Given the description of an element on the screen output the (x, y) to click on. 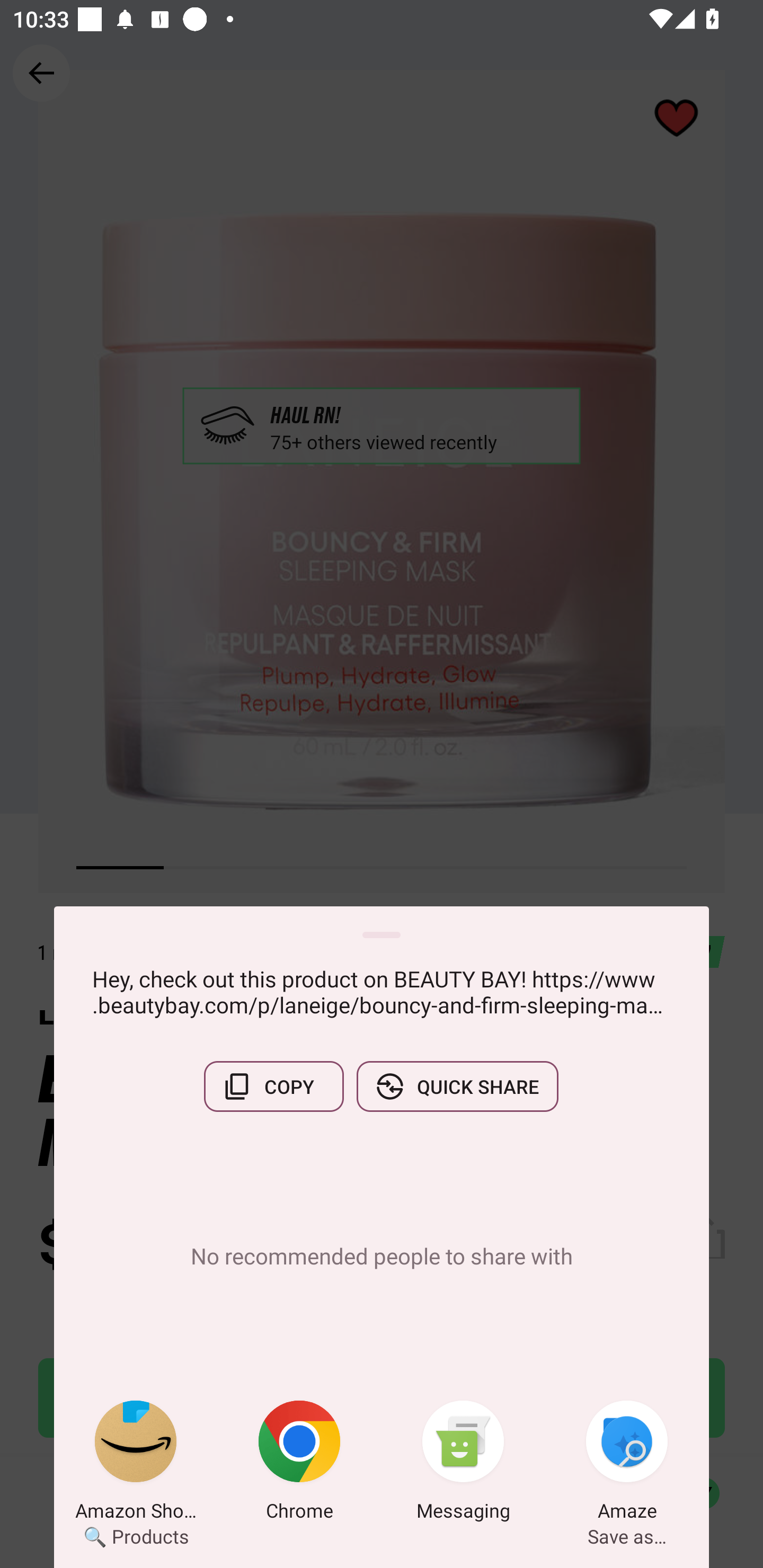
COPY (273, 1086)
QUICK SHARE (457, 1086)
Amazon Shopping 🔍 Products (135, 1463)
Chrome (299, 1463)
Messaging (463, 1463)
Amaze Save as… (626, 1463)
